Given the description of an element on the screen output the (x, y) to click on. 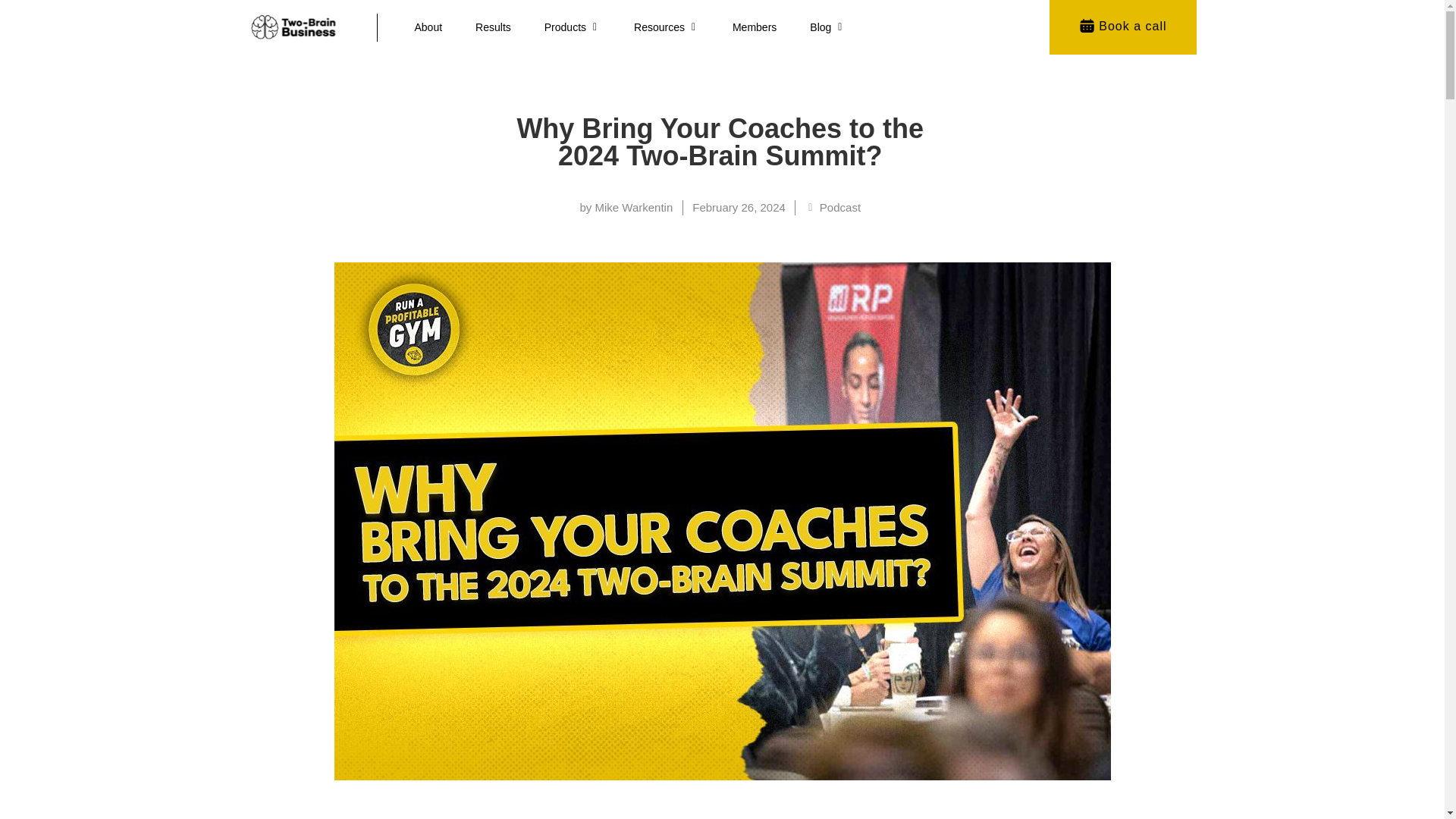
Members (754, 27)
About (427, 27)
Products (565, 27)
Results (493, 27)
Blog (820, 27)
